Given the description of an element on the screen output the (x, y) to click on. 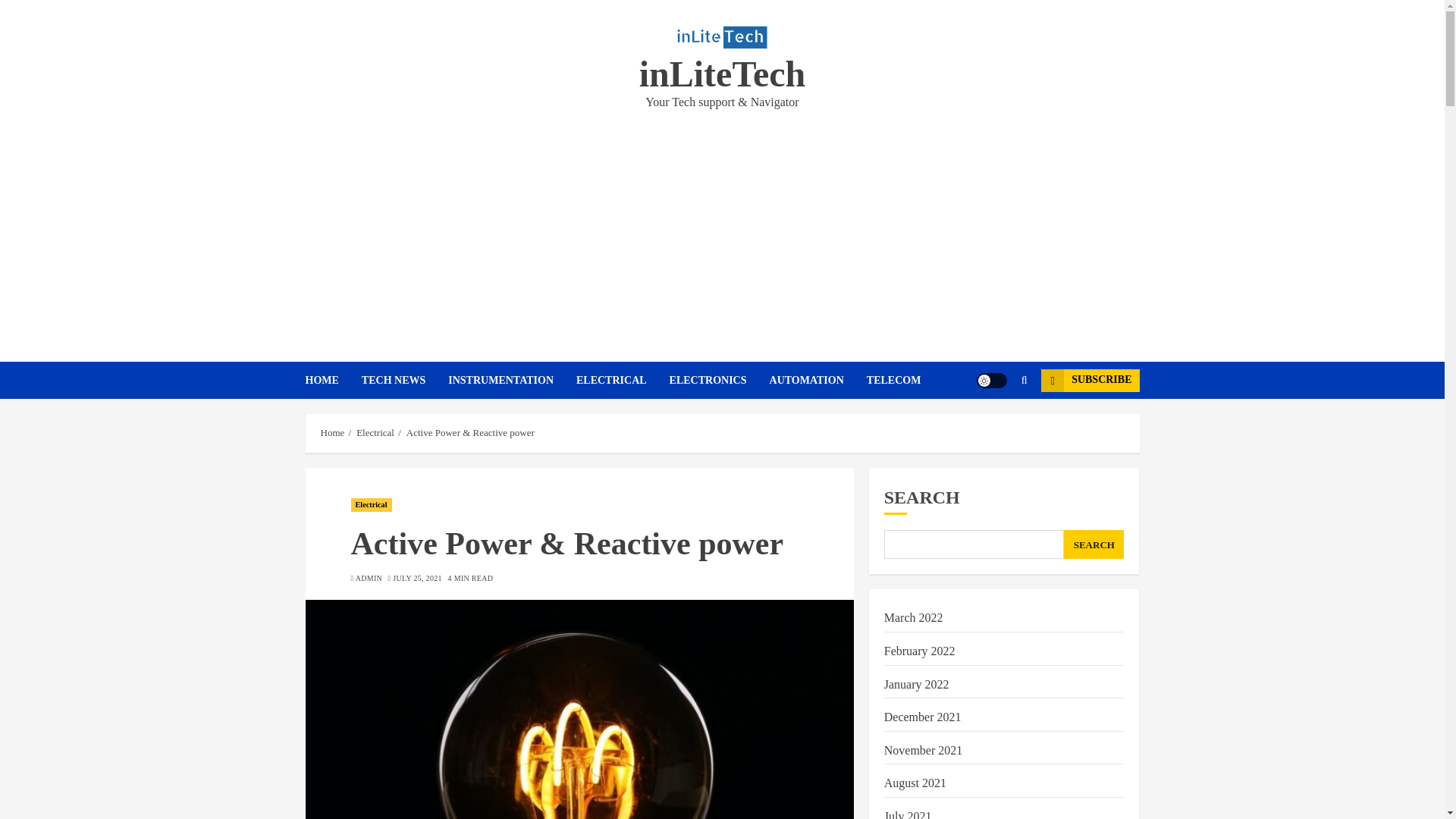
Electrical (375, 432)
TECH NEWS (404, 379)
JULY 25, 2021 (417, 578)
inLiteTech (722, 74)
INSTRUMENTATION (512, 379)
HOME (332, 379)
Electrical (370, 504)
SUBSCRIBE (1089, 380)
ELECTRONICS (719, 379)
ELECTRICAL (622, 379)
SEARCH (1094, 543)
ADMIN (368, 578)
TELECOM (893, 379)
Home (331, 432)
